Given the description of an element on the screen output the (x, y) to click on. 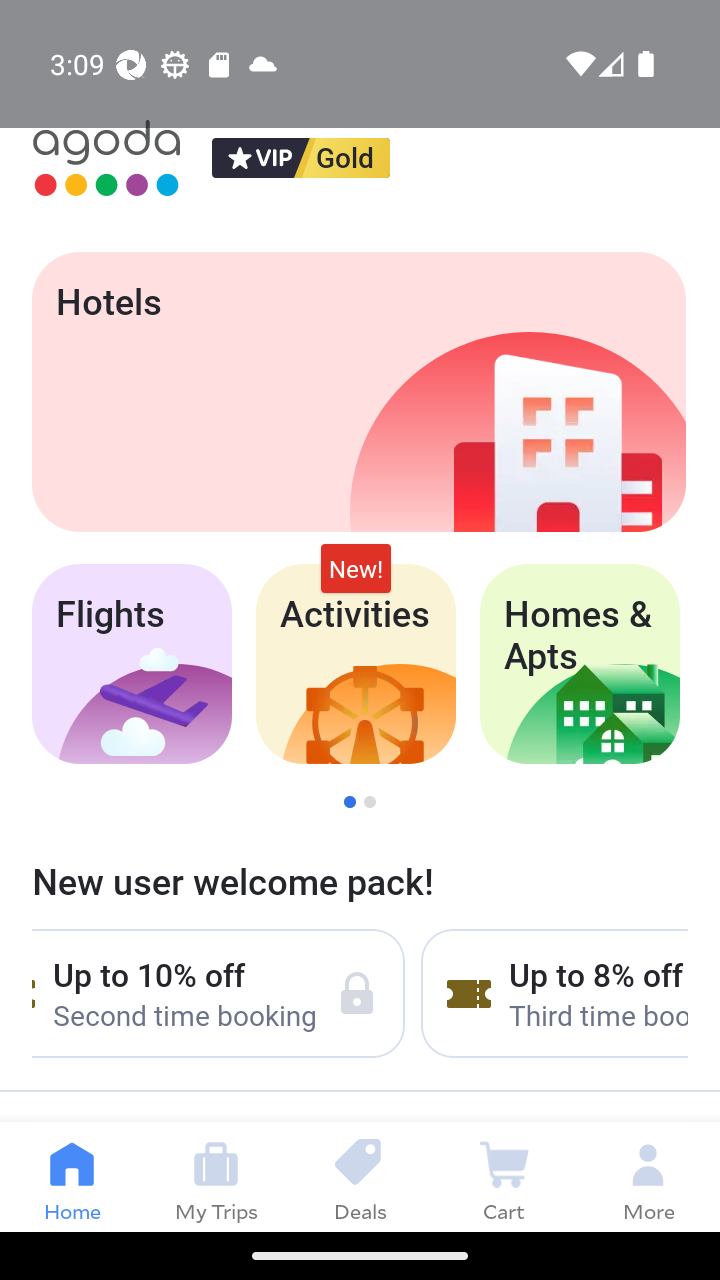
Hotels (358, 392)
New! (355, 568)
Flights (131, 664)
Activities (355, 664)
Homes & Apts (579, 664)
Home (72, 1176)
My Trips (216, 1176)
Deals (360, 1176)
Cart (504, 1176)
More (648, 1176)
